Given the description of an element on the screen output the (x, y) to click on. 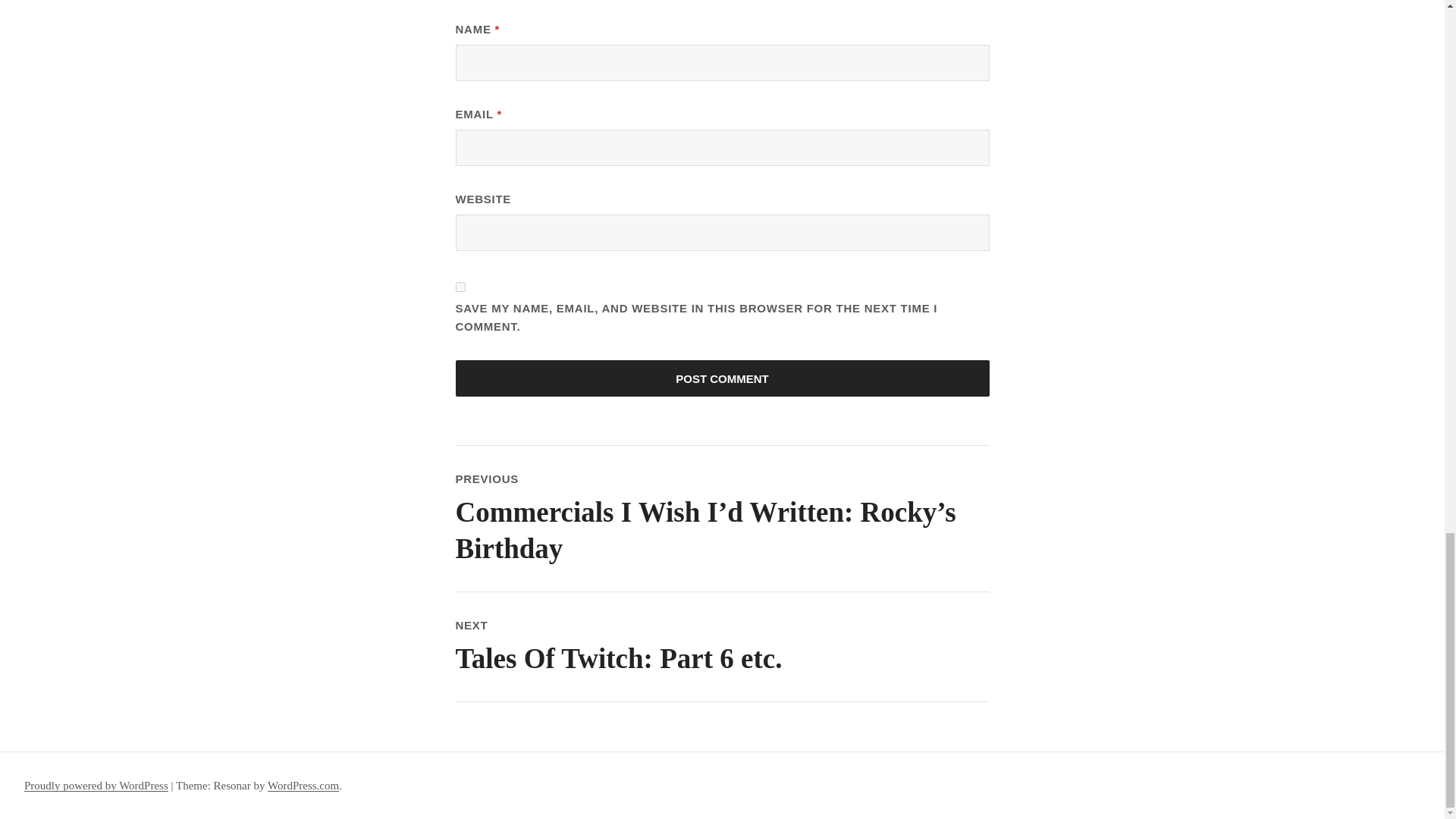
yes (459, 286)
Post Comment (721, 378)
Post Comment (721, 646)
